Given the description of an element on the screen output the (x, y) to click on. 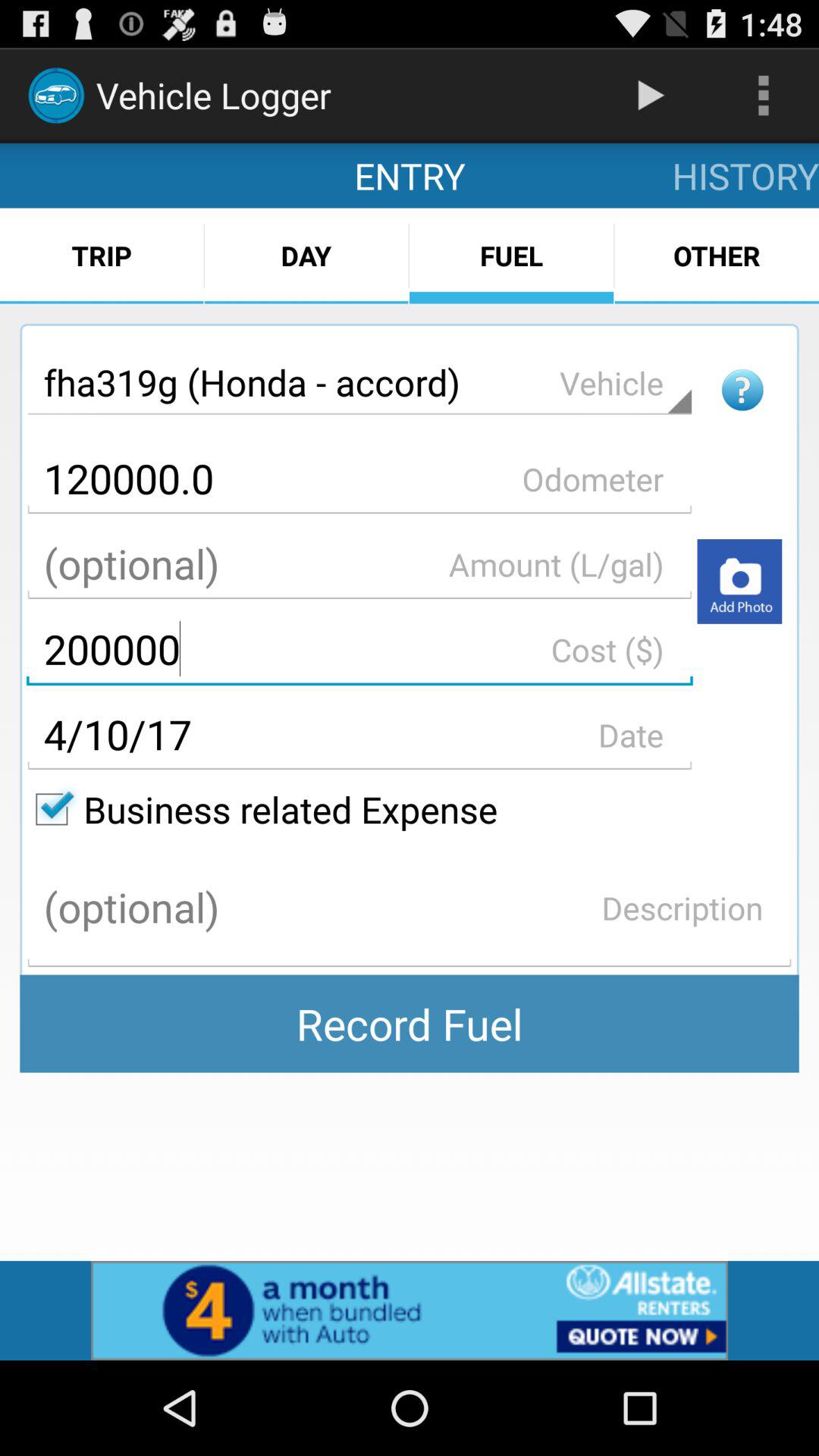
camera (739, 580)
